Given the description of an element on the screen output the (x, y) to click on. 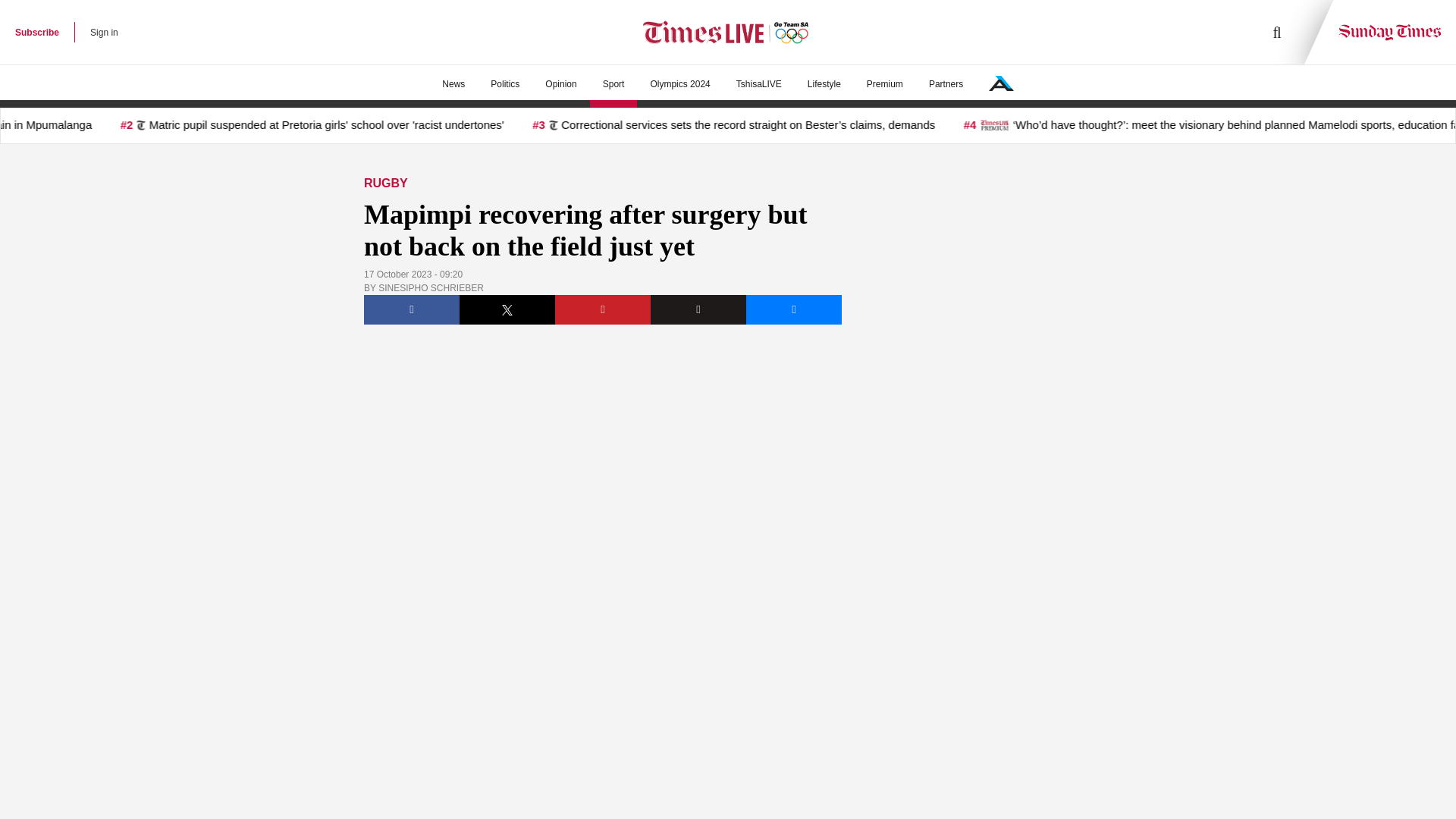
Subscribe (36, 32)
News (453, 84)
TshisaLIVE (758, 84)
Politics (504, 84)
Premium (884, 84)
Partners (945, 84)
Sport (613, 84)
Olympics 2024 (679, 84)
Opinion (560, 84)
Sign in (103, 32)
Our Network (1000, 83)
Lifestyle (823, 84)
